Given the description of an element on the screen output the (x, y) to click on. 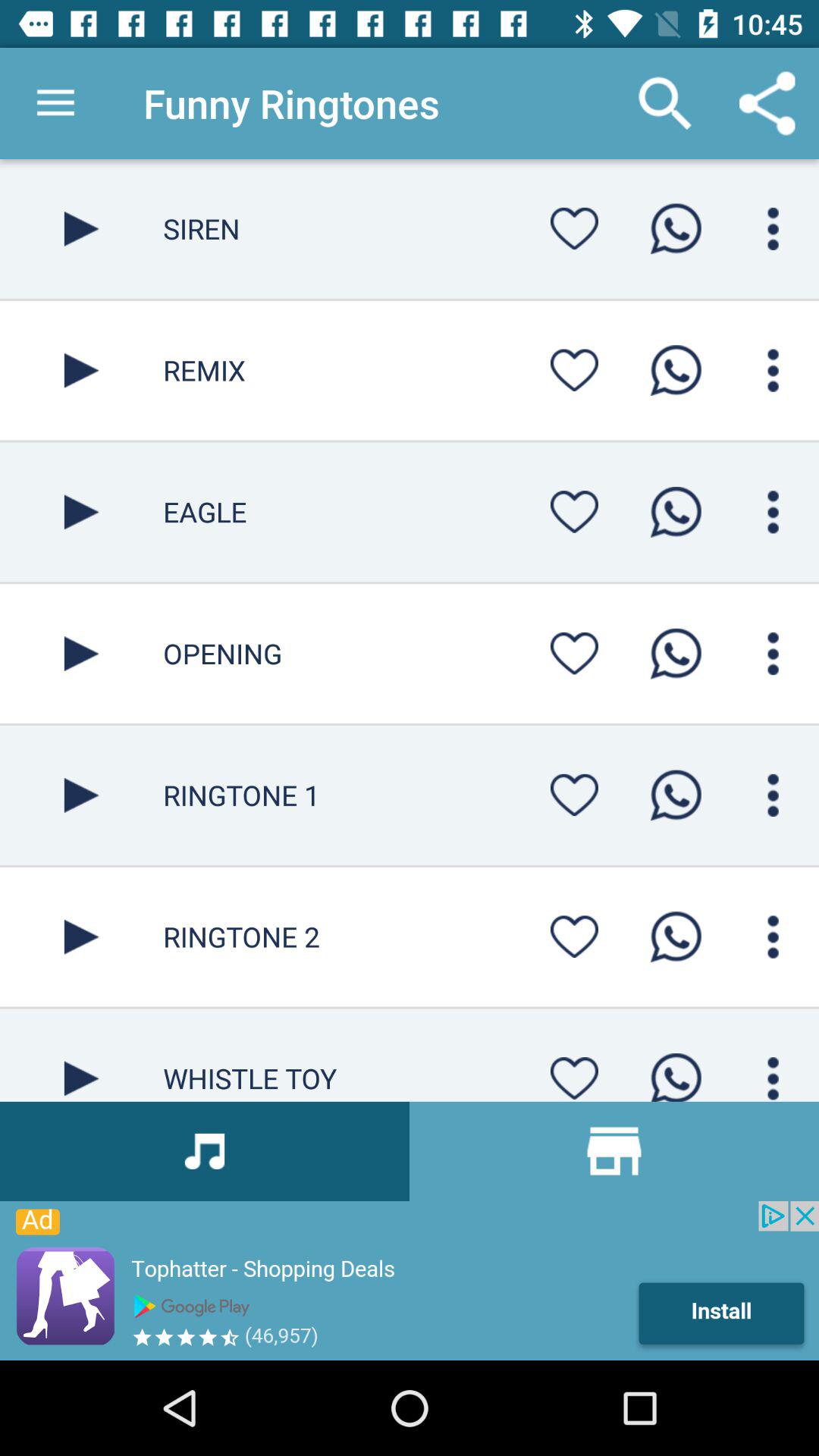
call symbol (675, 511)
